Given the description of an element on the screen output the (x, y) to click on. 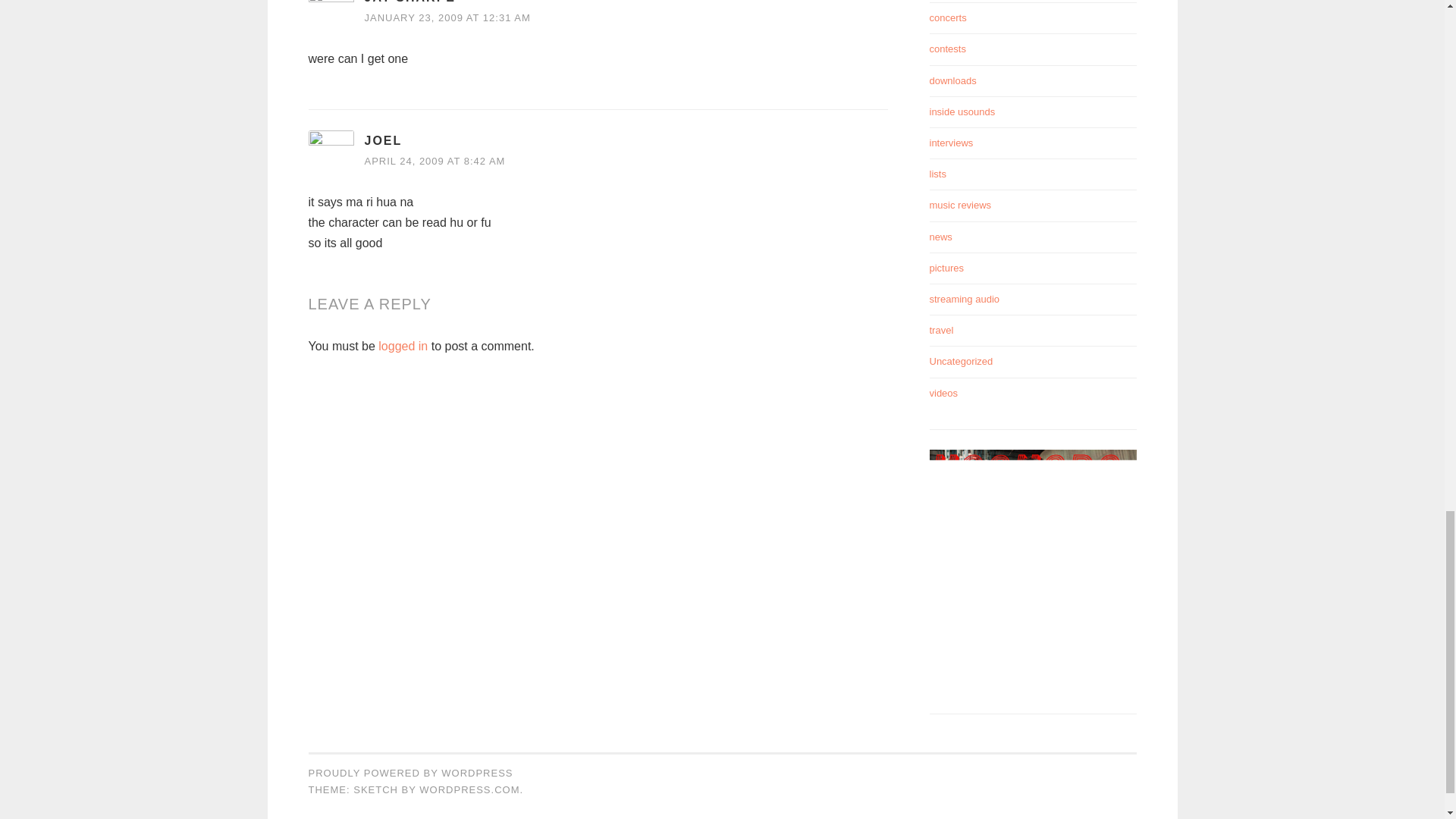
JANUARY 23, 2009 AT 12:31 AM (446, 17)
logged in (403, 345)
APRIL 24, 2009 AT 8:42 AM (434, 161)
